Given the description of an element on the screen output the (x, y) to click on. 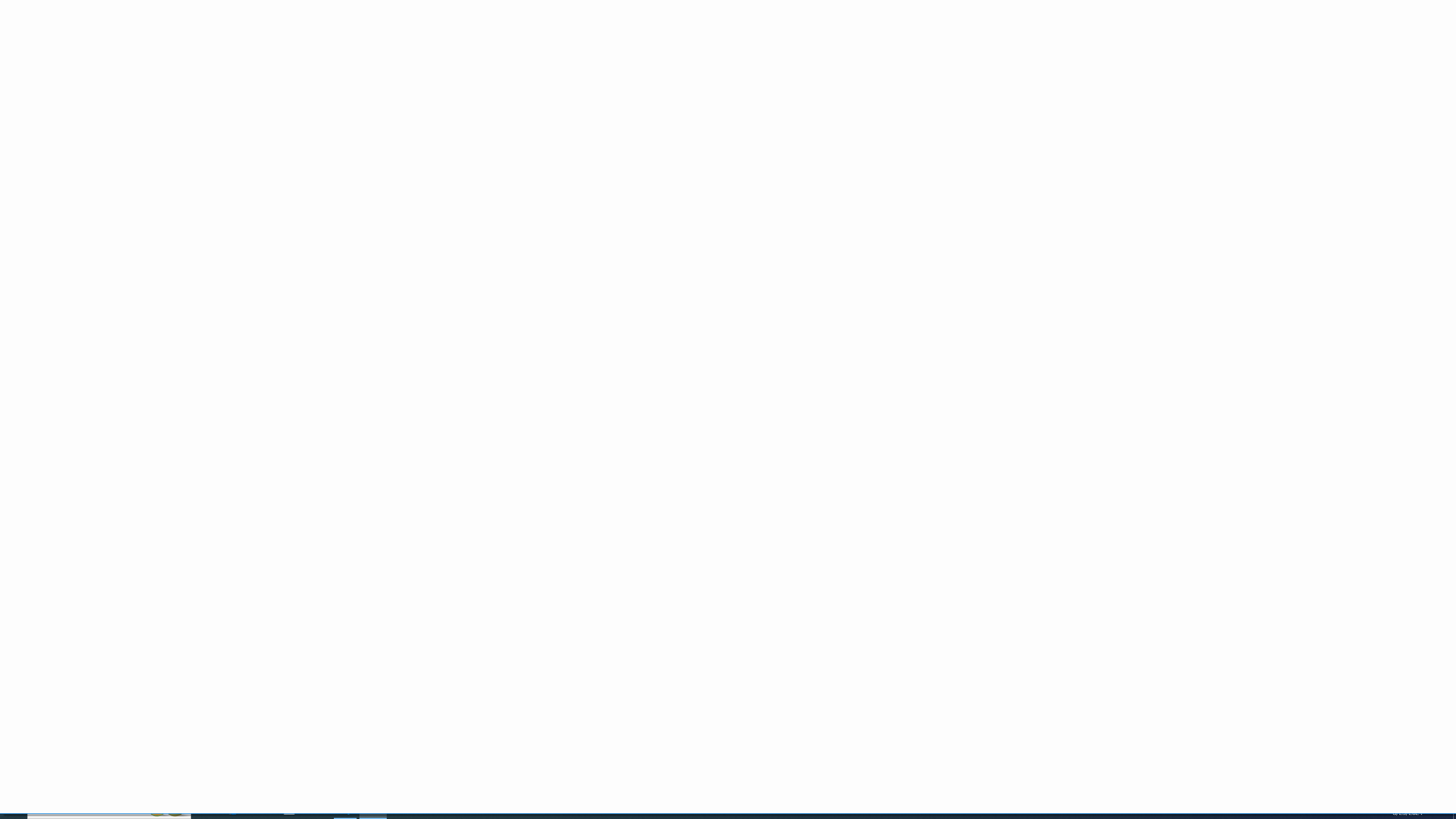
Good (731, 49)
Calculation (852, 49)
Find & Select (1075, 58)
Font Color (210, 67)
Italic (118, 67)
Paste (16, 48)
Font Color RGB(255, 0, 0) (206, 67)
Delete (938, 58)
Increase Indent (320, 67)
